Given the description of an element on the screen output the (x, y) to click on. 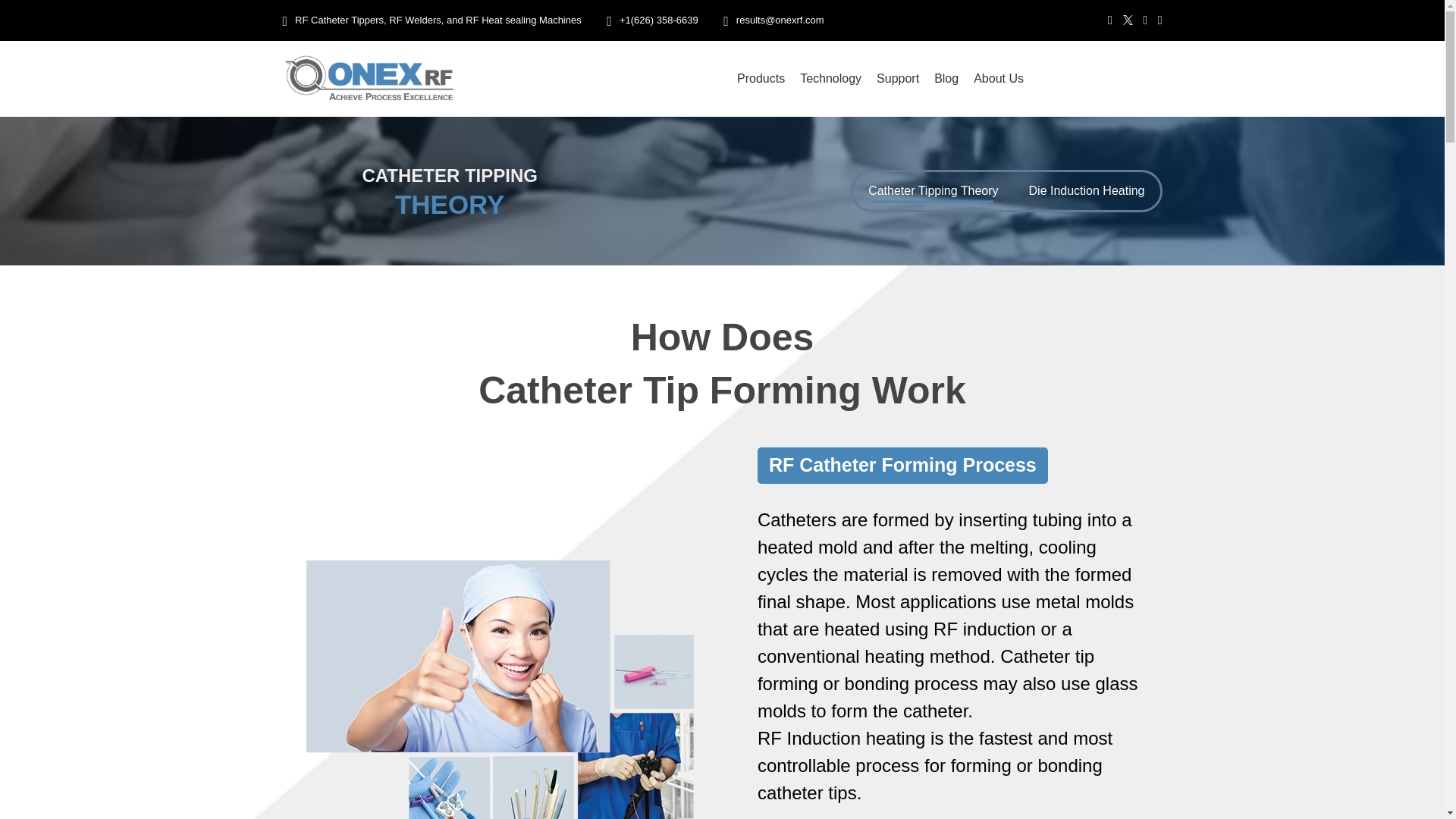
Support (897, 78)
Blog (946, 78)
About Us (998, 78)
Catheter Tipping Theory (933, 190)
Technology (830, 78)
Die Induction Heating (1086, 190)
ONEXRFLOGO (369, 78)
Products (760, 78)
